Given the description of an element on the screen output the (x, y) to click on. 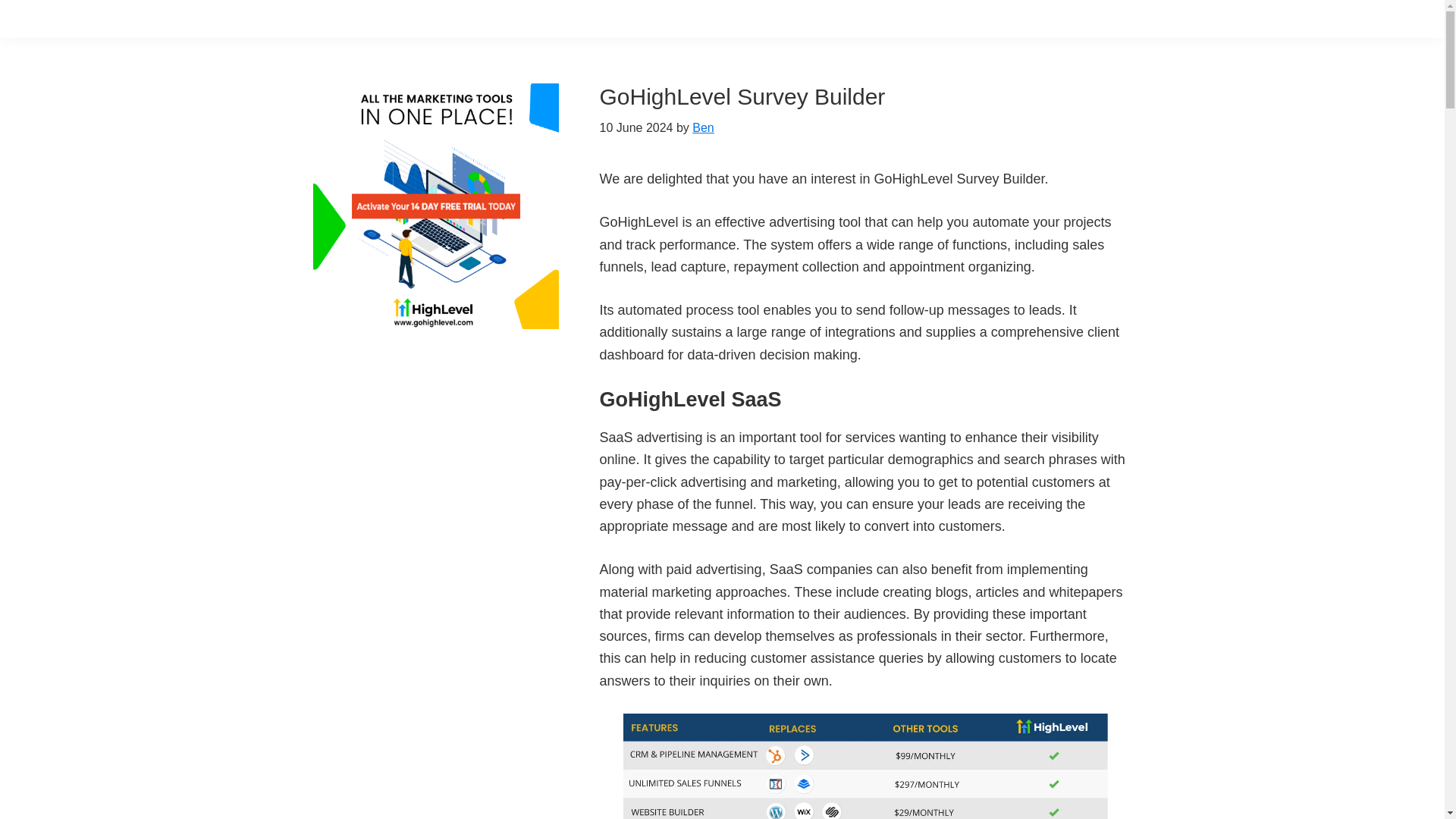
Ben (703, 127)
